Given the description of an element on the screen output the (x, y) to click on. 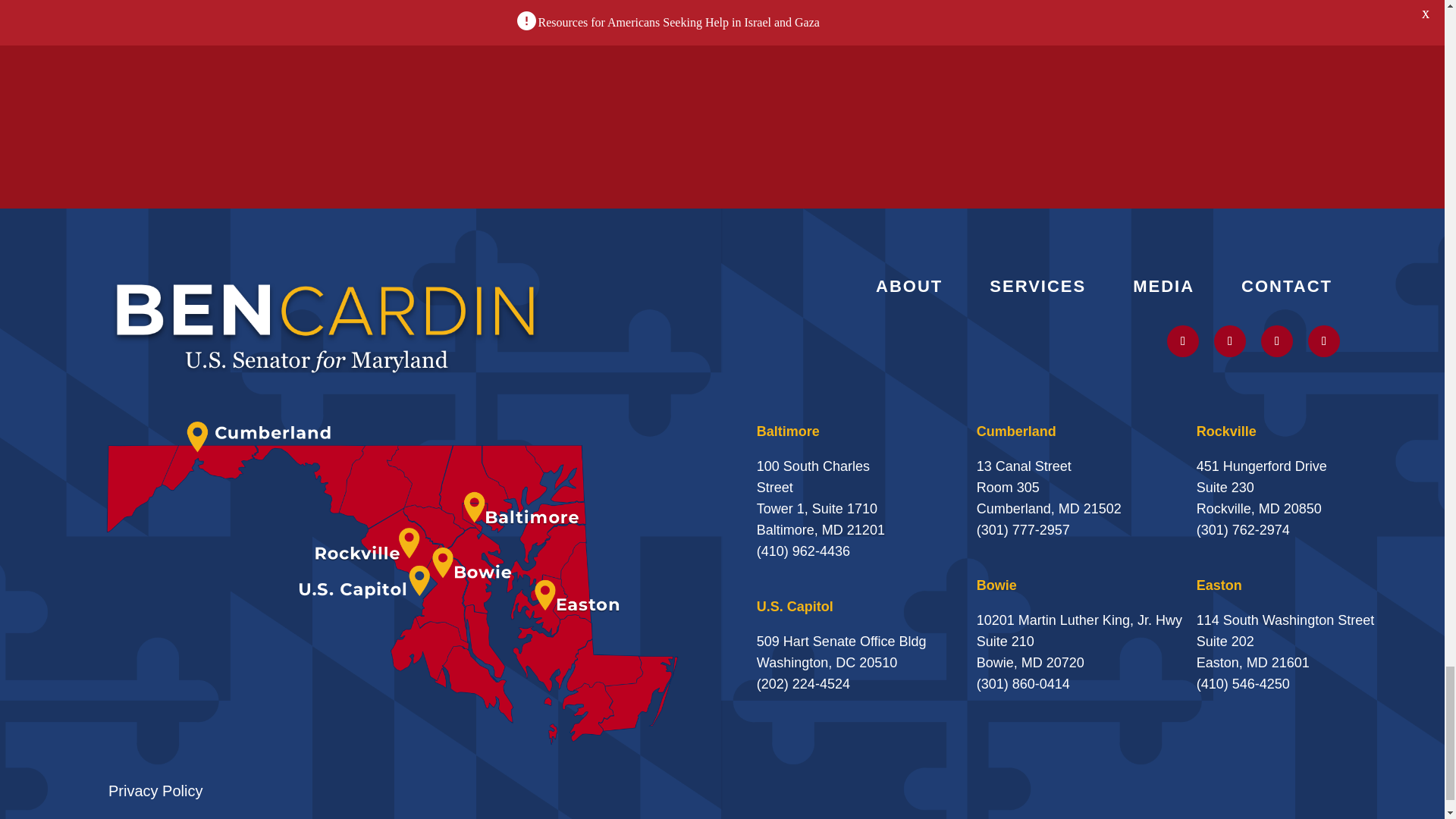
Follow on Youtube (1276, 341)
Footer (326, 325)
Follow on Instagram (1230, 341)
Follow on X (1182, 341)
Follow on Facebook (1323, 341)
Privacy Policy (154, 790)
